Given the description of an element on the screen output the (x, y) to click on. 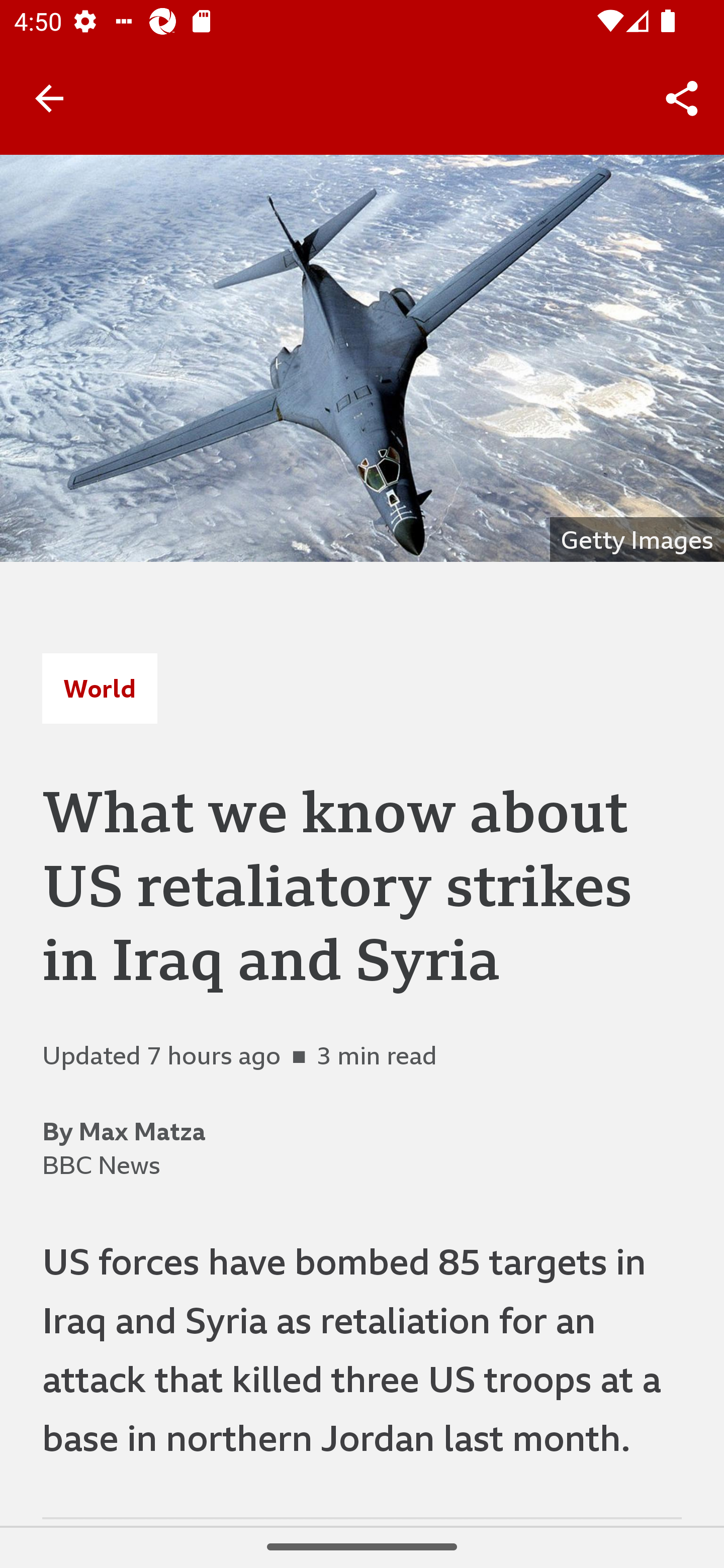
Back (49, 97)
Share (681, 98)
World (99, 688)
